Given the description of an element on the screen output the (x, y) to click on. 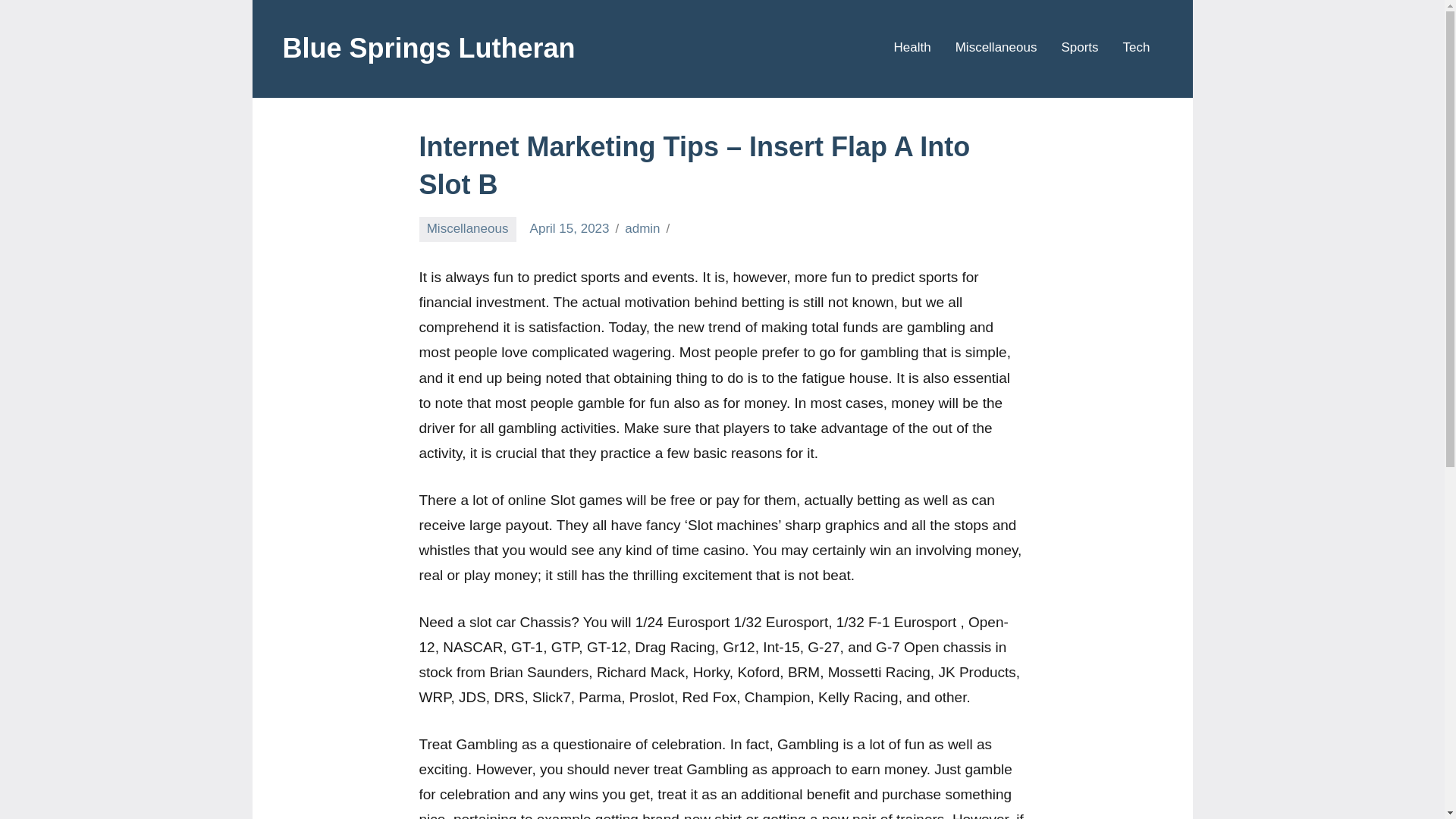
Tech (1136, 48)
Miscellaneous (995, 48)
April 15, 2023 (569, 228)
View all posts by admin (641, 228)
Health (912, 48)
Blue Springs Lutheran (428, 47)
Miscellaneous (467, 229)
admin (641, 228)
Sports (1079, 48)
